Given the description of an element on the screen output the (x, y) to click on. 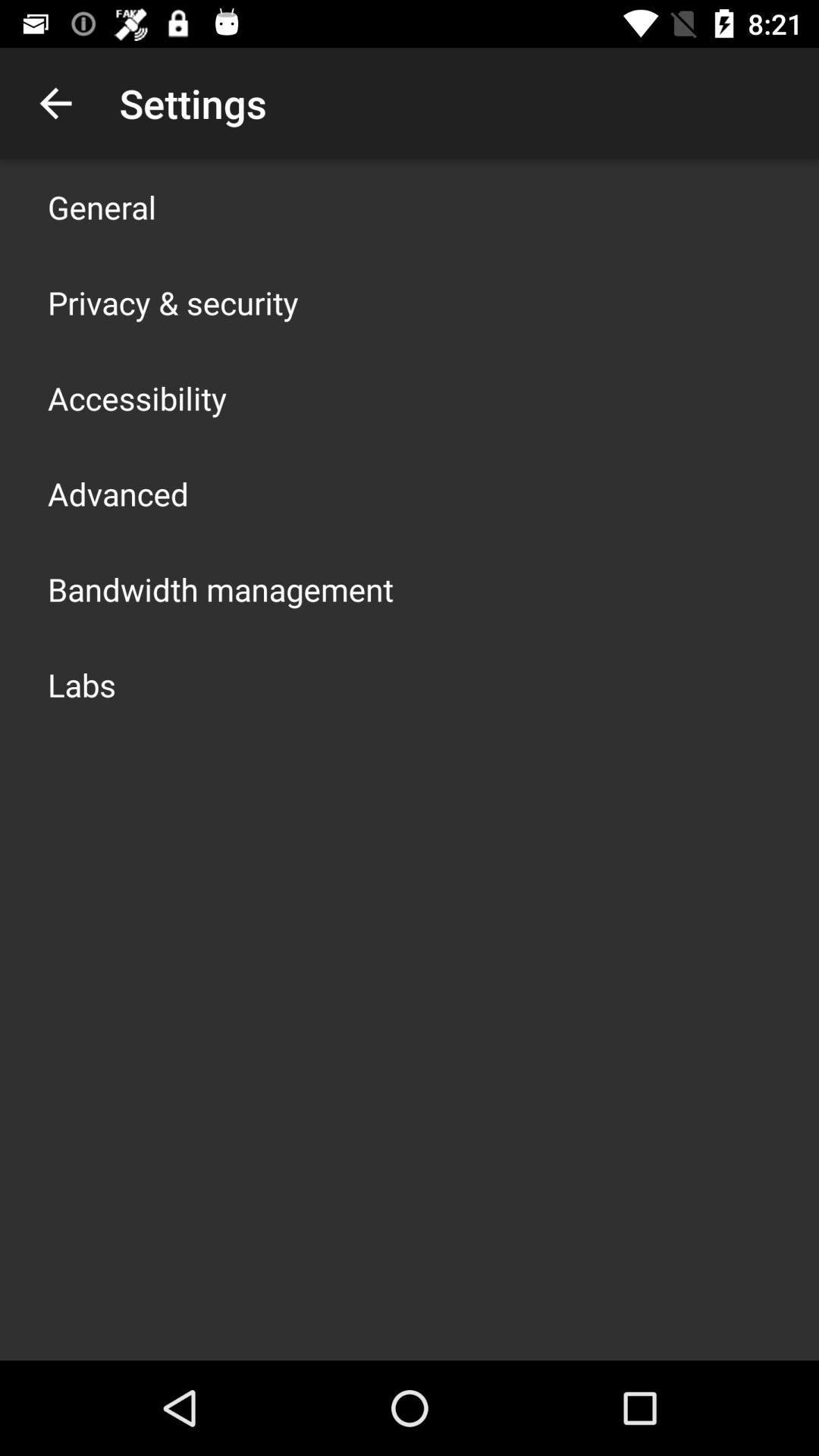
tap item above the advanced (136, 397)
